Given the description of an element on the screen output the (x, y) to click on. 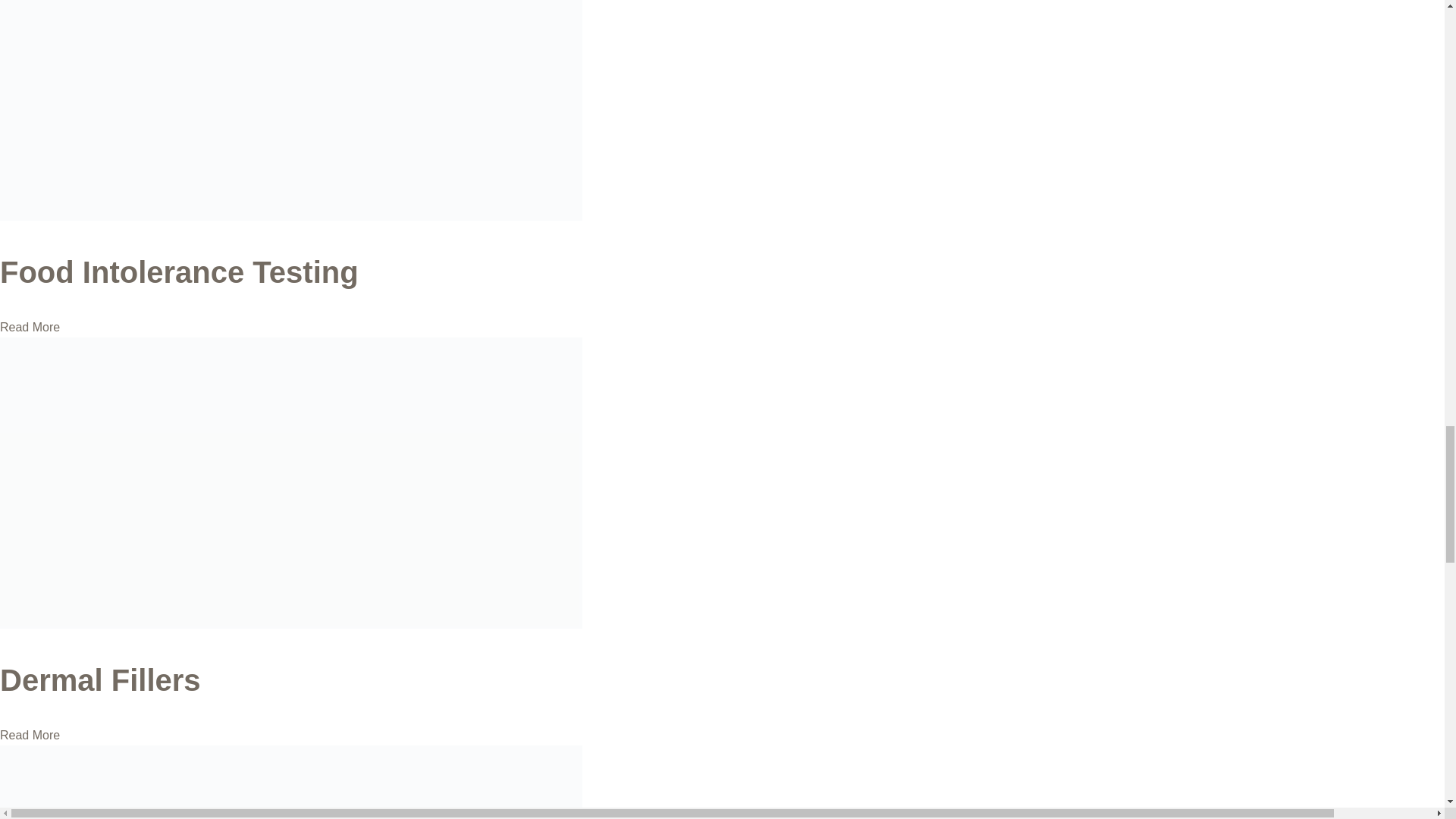
Dermal Fillers (291, 624)
Dermal Fillers (29, 735)
Food Intolerance Testing (179, 272)
Read More (29, 735)
Dermal Fillers (100, 679)
Dermal Fillers (100, 679)
Read More (29, 327)
Food Intolerance Testing (29, 327)
Food Intolerance Testing (179, 272)
Food Intolerance Testing (291, 215)
